Given the description of an element on the screen output the (x, y) to click on. 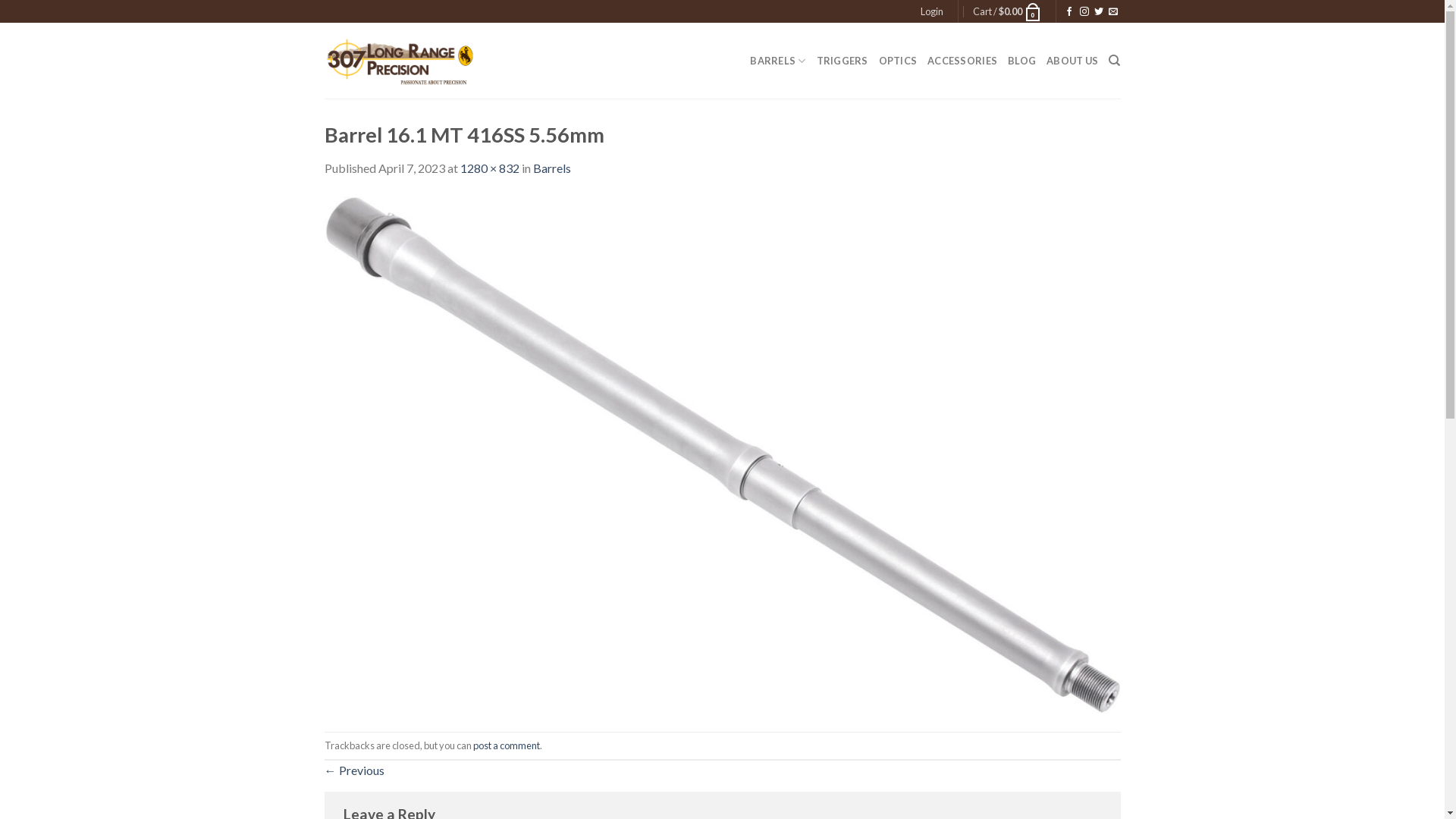
post a comment Element type: text (506, 745)
Send us an email Element type: hover (1112, 11)
Follow on Instagram Element type: hover (1083, 11)
Follow on Twitter Element type: hover (1098, 11)
TRIGGERS Element type: text (842, 60)
OPTICS Element type: text (897, 60)
Cart / $0.00
0 Element type: text (1006, 11)
307 Long Range Precision - 307 Long Range Precision Element type: hover (400, 60)
BLOG Element type: text (1021, 60)
ABOUT US Element type: text (1072, 60)
BARRELS Element type: text (777, 60)
Login Element type: text (931, 11)
Barrel 16.1 MT 416SS 5.56mm Element type: hover (722, 452)
Barrels Element type: text (551, 167)
ACCESSORIES Element type: text (962, 60)
Follow on Facebook Element type: hover (1068, 11)
